Given the description of an element on the screen output the (x, y) to click on. 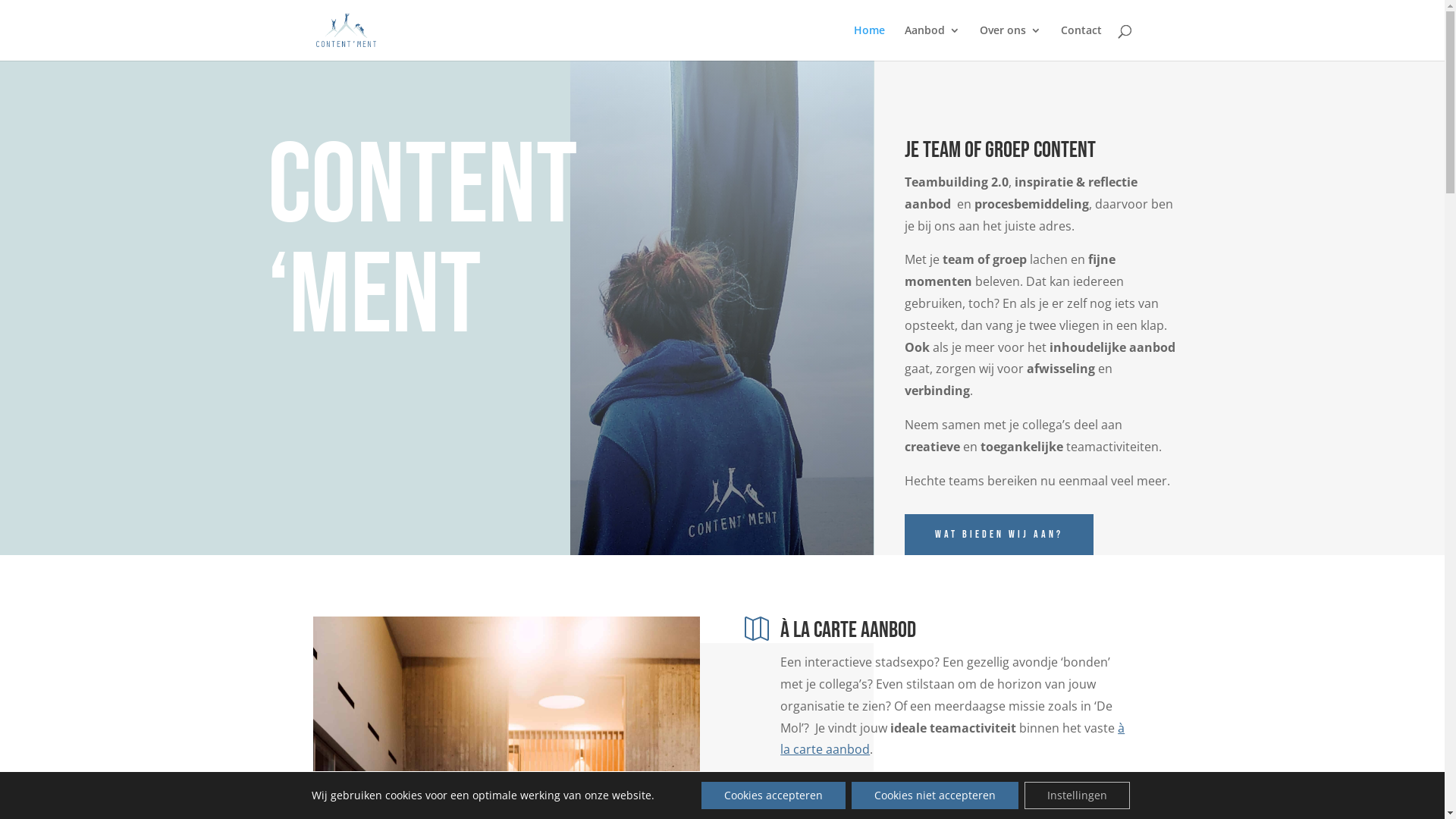
Contact Element type: text (1080, 42)
Instellingen Element type: text (1076, 795)
Cookies accepteren Element type: text (773, 795)
Home Element type: text (868, 42)
Aanbod Element type: text (931, 42)
Wat bieden wij aan? Element type: text (998, 534)
Cookies niet accepteren Element type: text (934, 795)
Over ons Element type: text (1010, 42)
